Given the description of an element on the screen output the (x, y) to click on. 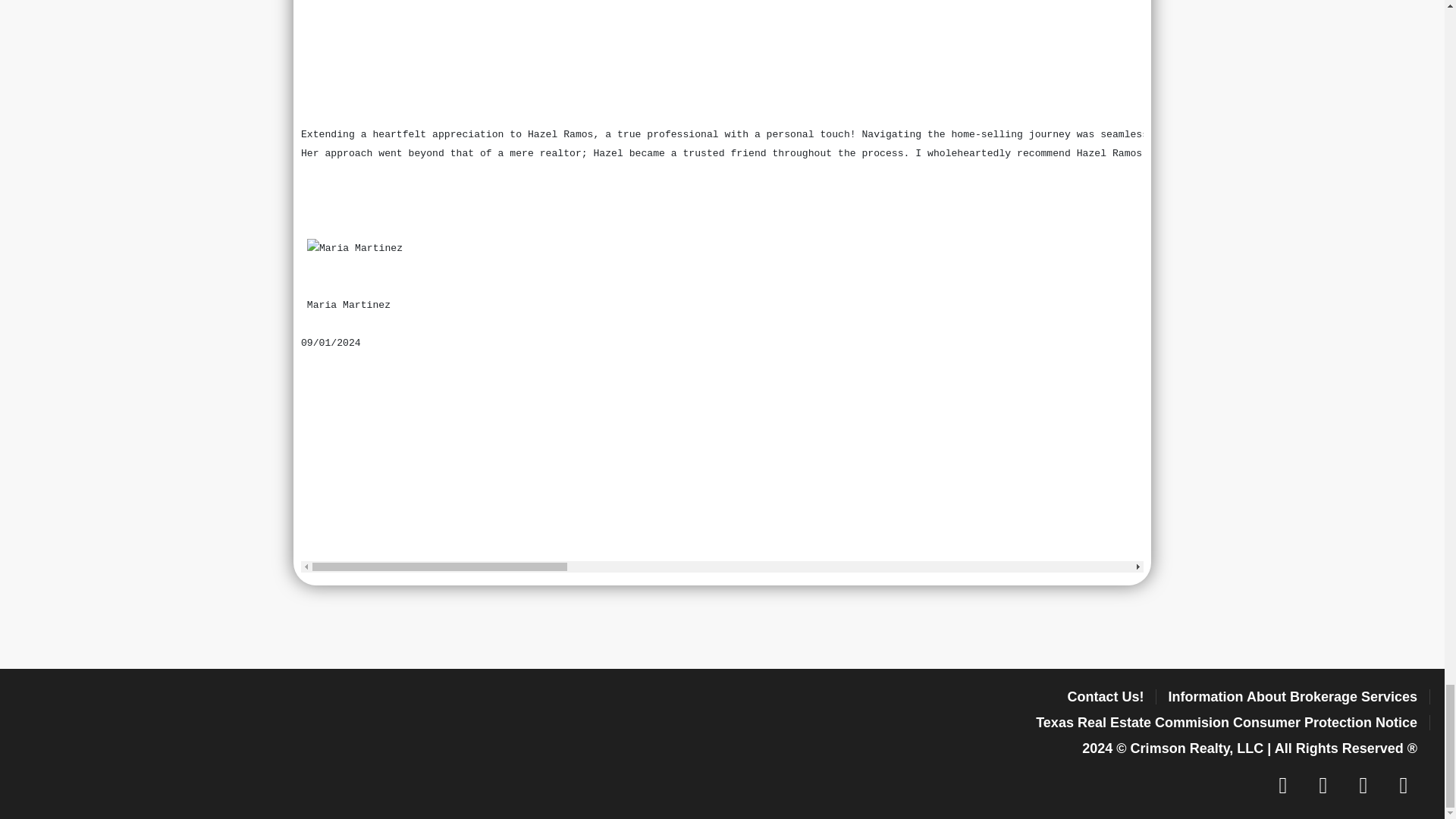
Information About Brokerage Services (1292, 696)
Contact Us! (1105, 696)
Texas Real Estate Commision Consumer Protection Notice (1225, 722)
